Given the description of an element on the screen output the (x, y) to click on. 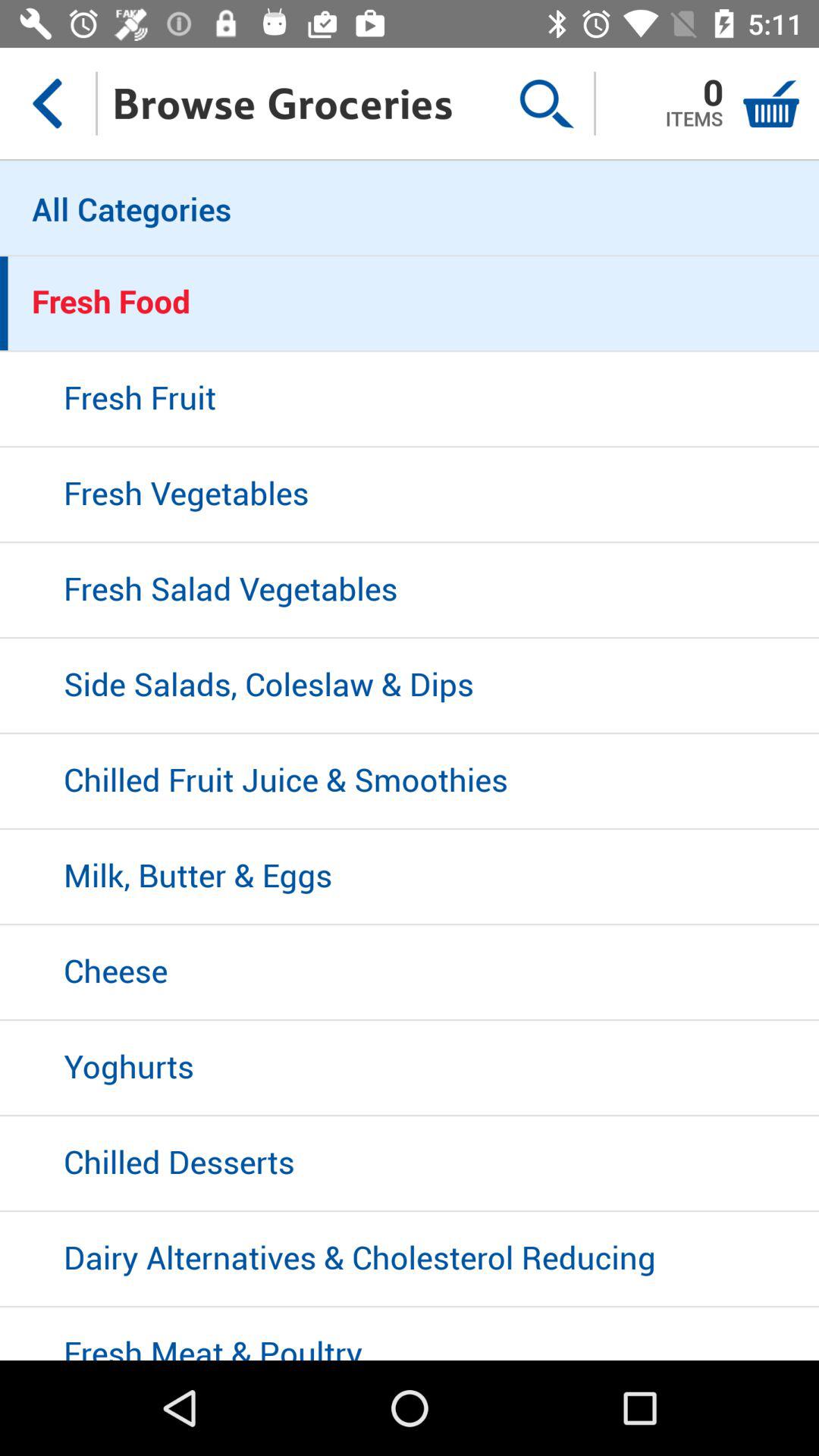
open the item to the right of the browse groceries item (545, 103)
